Given the description of an element on the screen output the (x, y) to click on. 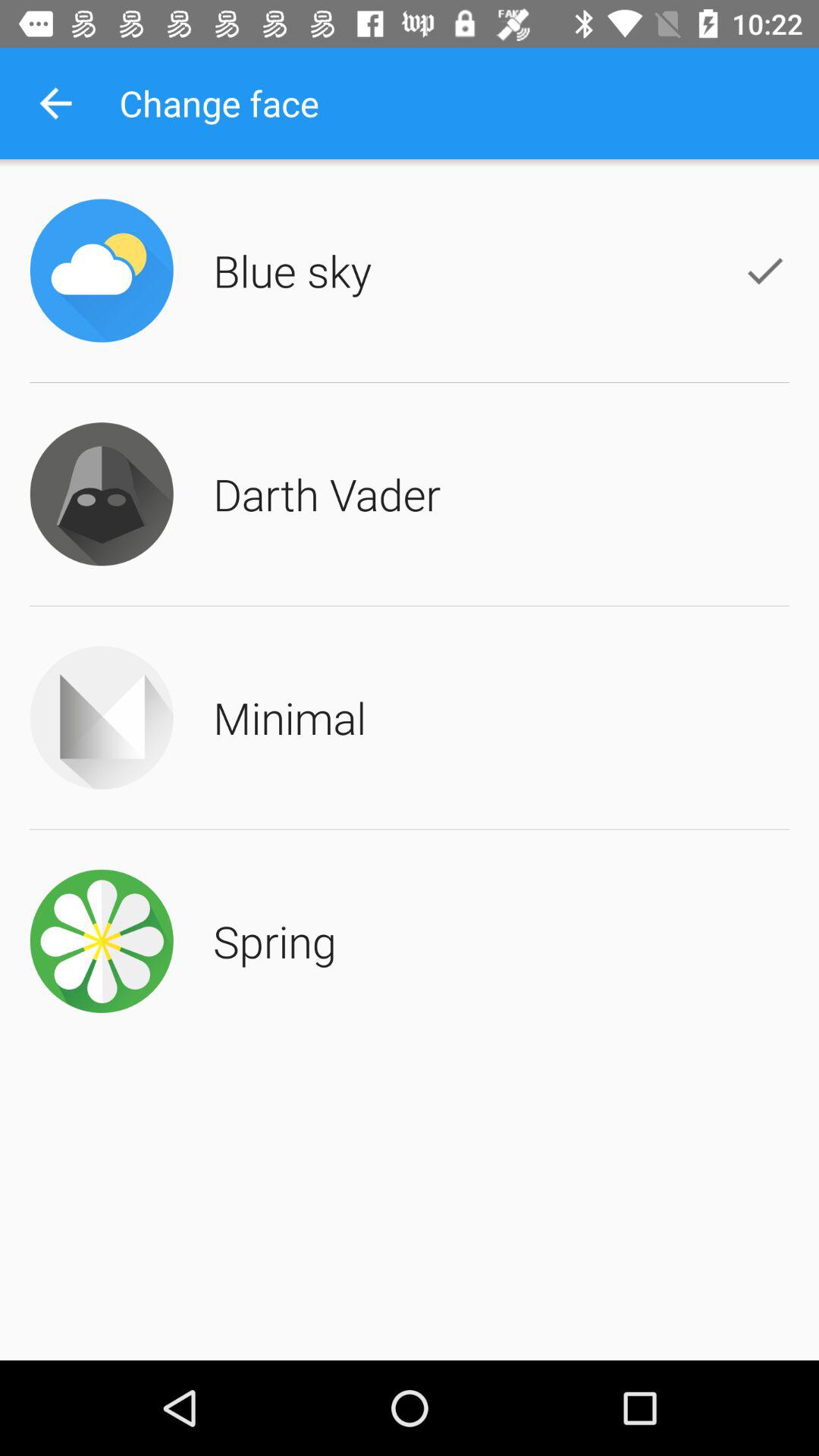
open the spring icon (274, 940)
